Given the description of an element on the screen output the (x, y) to click on. 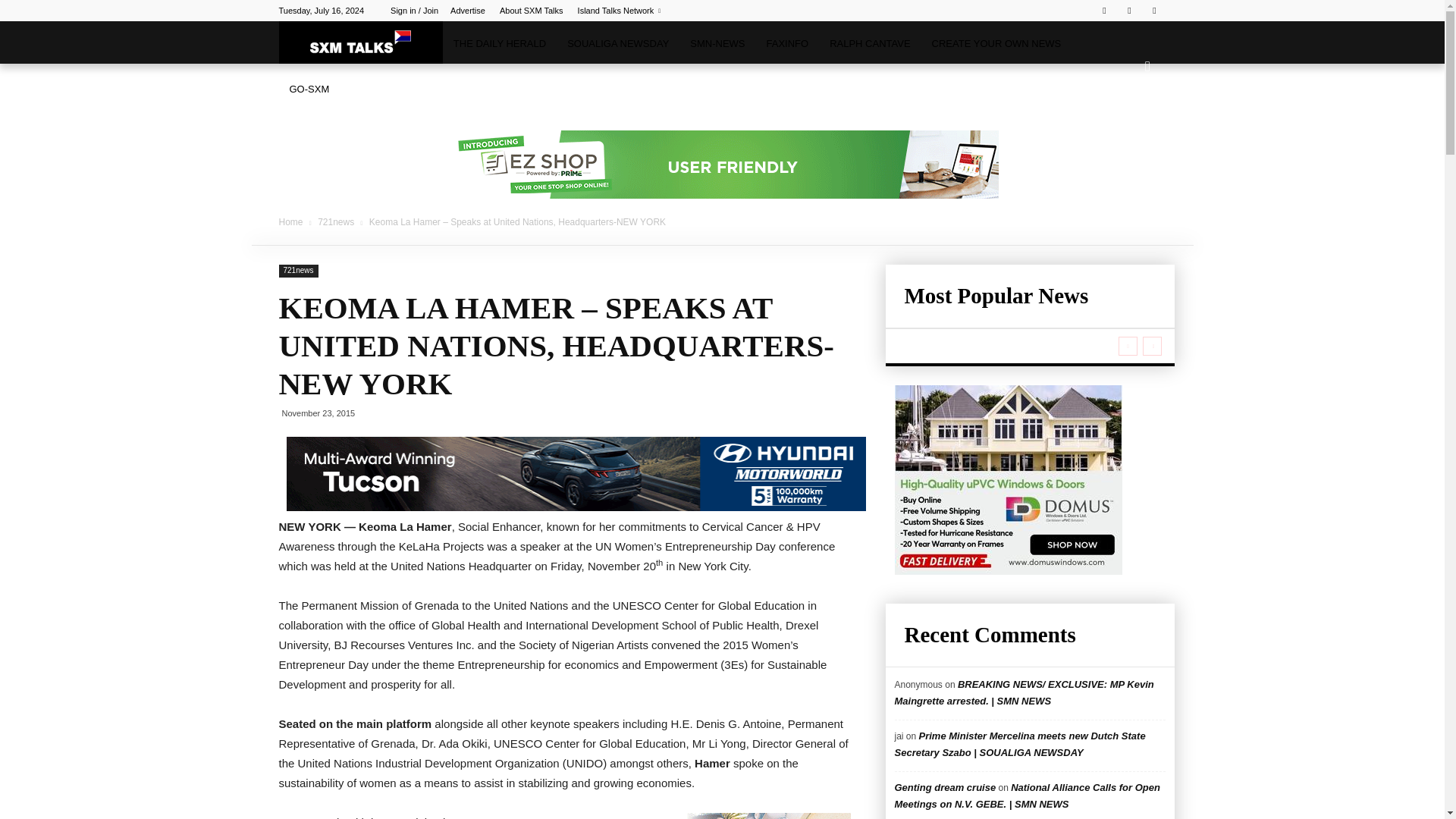
Advertise (466, 10)
Twitter (1129, 10)
SXM Talks (360, 42)
View all posts in 721news (336, 222)
FAXINFO (787, 43)
SMN-NEWS (717, 43)
RALPH CANTAVE (869, 43)
Youtube (1154, 10)
Island Talks Network (619, 10)
About SXM Talks (531, 10)
SOUALIGA NEWSDAY (617, 43)
Facebook (1104, 10)
THE DAILY HERALD (499, 43)
